Given the description of an element on the screen output the (x, y) to click on. 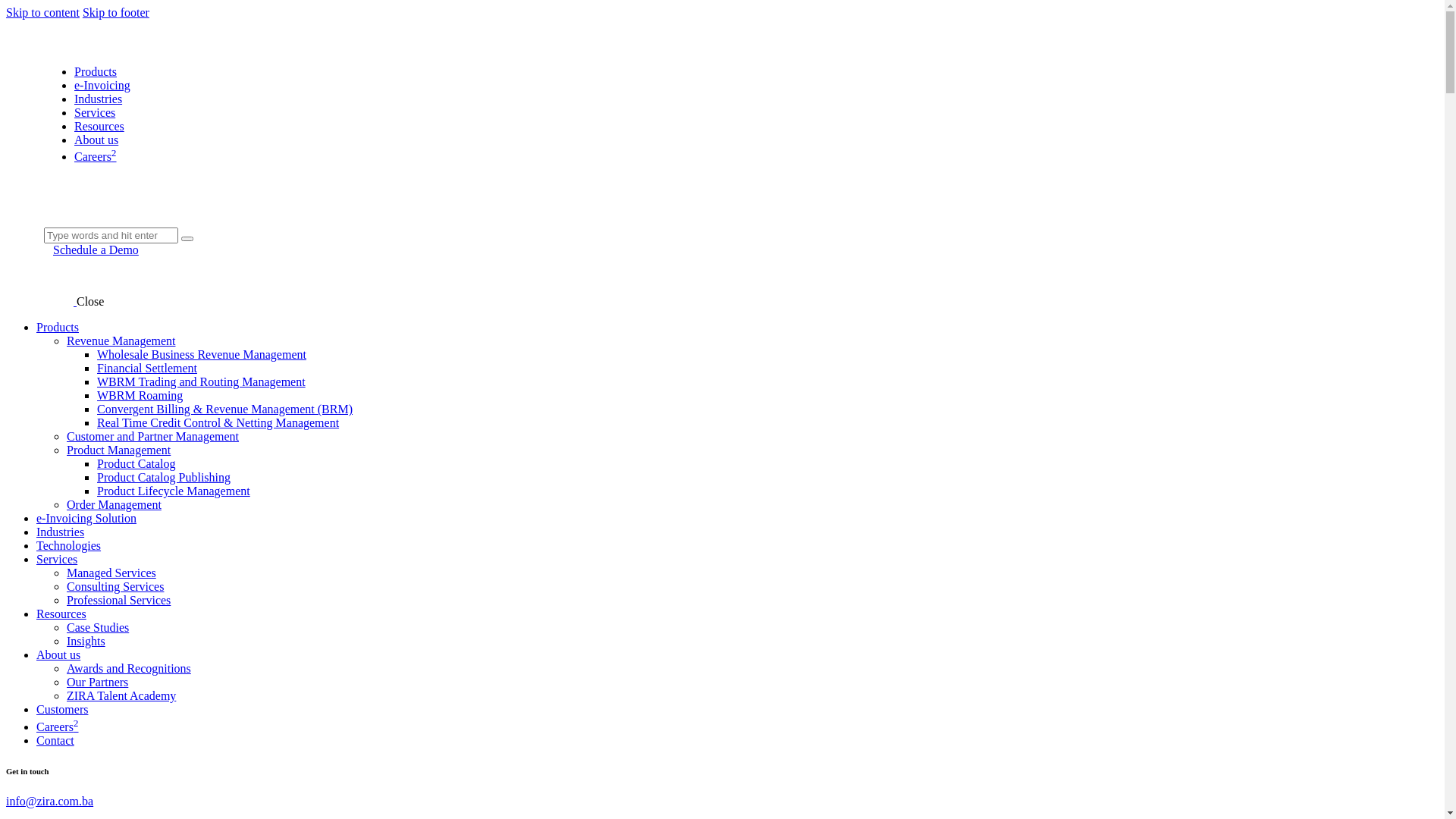
e-Invoicing Solution Element type: text (86, 517)
Financial Settlement Element type: text (147, 367)
Managed Services Element type: text (111, 572)
Product Catalog Element type: text (136, 463)
Skip to footer Element type: text (115, 12)
Product Catalog Publishing Element type: text (163, 476)
Case Studies Element type: text (97, 627)
Schedule a Demo Element type: text (95, 249)
Careers2 Element type: text (57, 726)
WBRM Trading and Routing Management Element type: text (201, 381)
Skip to content Element type: text (42, 12)
ZIRA Talent Academy Element type: text (120, 695)
Real Time Credit Control & Netting Management Element type: text (217, 422)
Revenue Management Element type: text (120, 340)
Insights Element type: text (85, 640)
Awards and Recognitions Element type: text (128, 668)
Services Element type: text (94, 112)
Close Element type: text (89, 300)
Order Management Element type: text (113, 504)
Industries Element type: text (98, 98)
About us Element type: text (58, 654)
Customers Element type: text (61, 708)
Consulting Services Element type: text (114, 586)
Wholesale Business Revenue Management Element type: text (201, 354)
Product Management Element type: text (118, 449)
Customer and Partner Management Element type: text (152, 435)
Careers2 Element type: text (95, 156)
About us Element type: text (96, 139)
Contact Element type: text (55, 740)
Technologies Element type: text (68, 545)
Services Element type: text (56, 558)
Products Element type: text (57, 326)
Our Partners Element type: text (97, 681)
WBRM Roaming Element type: text (139, 395)
Resources Element type: text (61, 613)
Resources Element type: text (99, 125)
Convergent Billing & Revenue Management (BRM) Element type: text (224, 408)
Professional Services Element type: text (118, 599)
Product Lifecycle Management Element type: text (173, 490)
info@zira.com.ba Element type: text (49, 800)
Industries Element type: text (60, 531)
Products Element type: text (95, 71)
e-Invoicing Element type: text (102, 84)
